Given the description of an element on the screen output the (x, y) to click on. 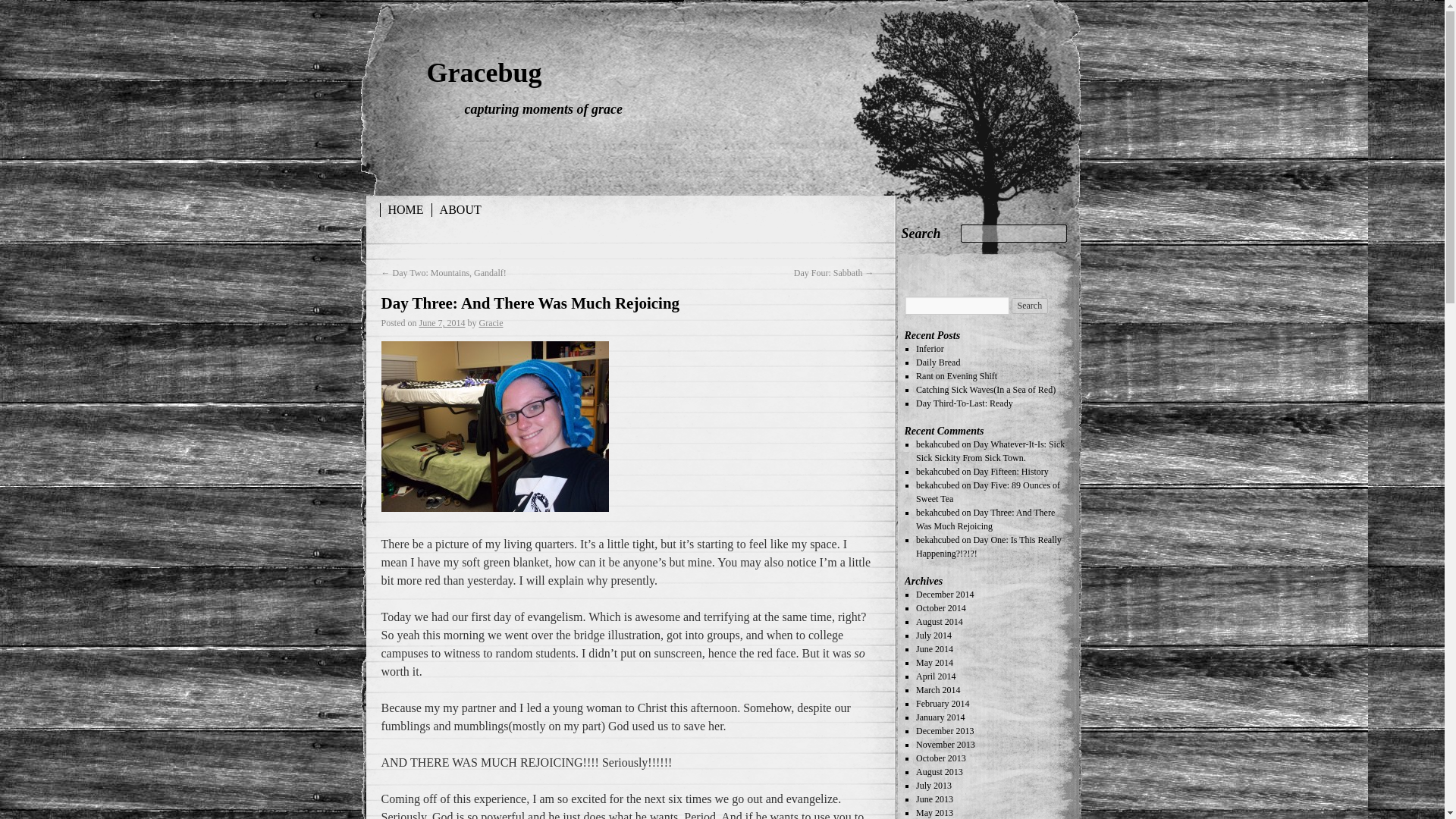
11:45 pm (442, 322)
Day Three: And There Was Much Rejoicing (984, 518)
bekahcubed (937, 539)
bekahcubed (937, 443)
View all posts by Gracie (491, 322)
October 2014 (940, 607)
Search (920, 233)
HOME (405, 210)
Inferior (929, 348)
Day Five: 89 Ounces of Sweet Tea (987, 491)
bekahcubed (937, 471)
Day Whatever-It-Is: Sick Sick Sickity From Sick Town. (989, 450)
Daily Bread (937, 362)
Search (1029, 305)
Day Fifteen: History (1010, 471)
